Given the description of an element on the screen output the (x, y) to click on. 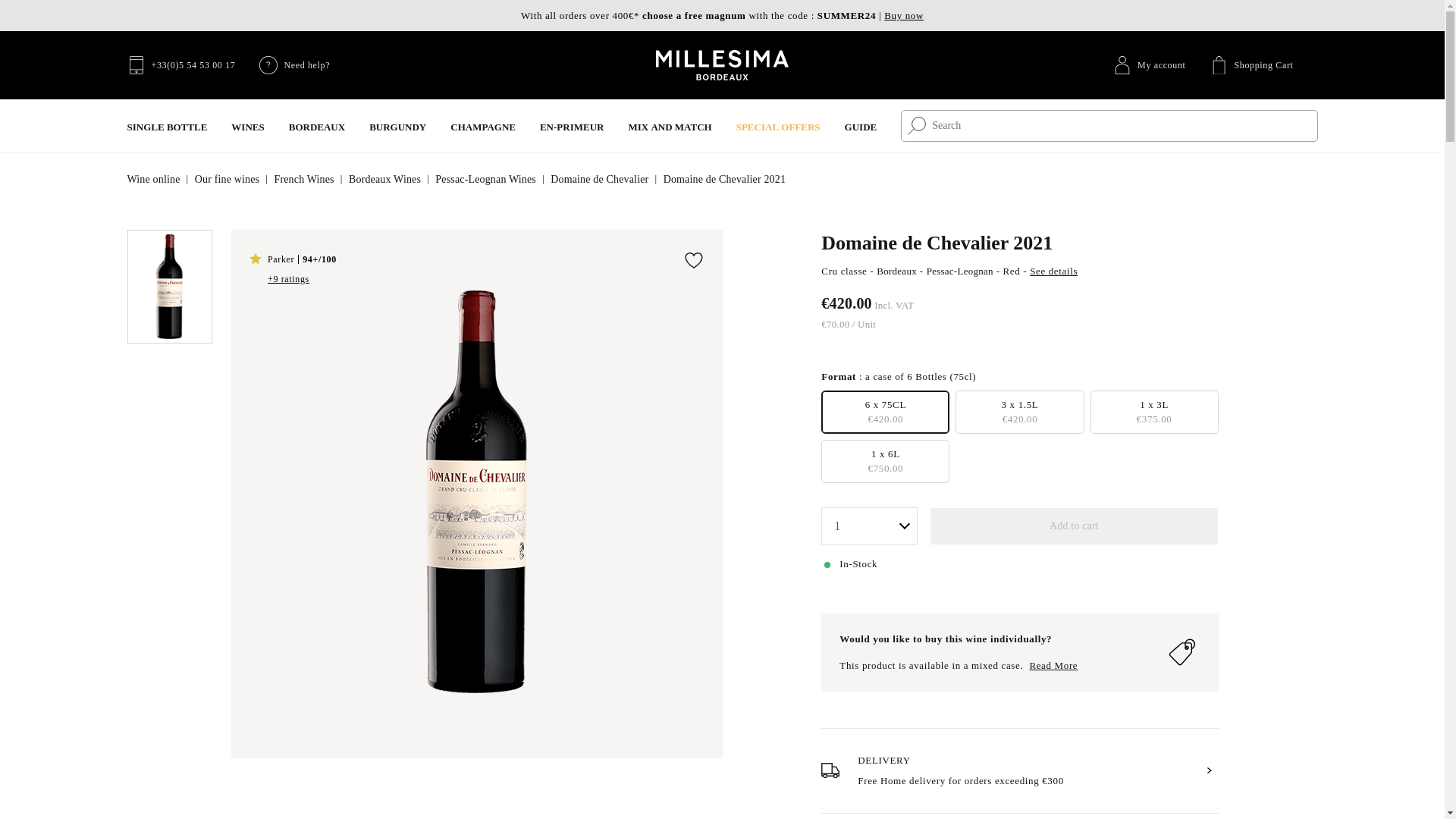
En-Primeur (572, 125)
Champagne (482, 125)
Burgundy (397, 125)
Buy now (903, 15)
Bordeaux (316, 125)
Single bottle (168, 125)
Special offers (778, 125)
Mix and match (669, 125)
